Given the description of an element on the screen output the (x, y) to click on. 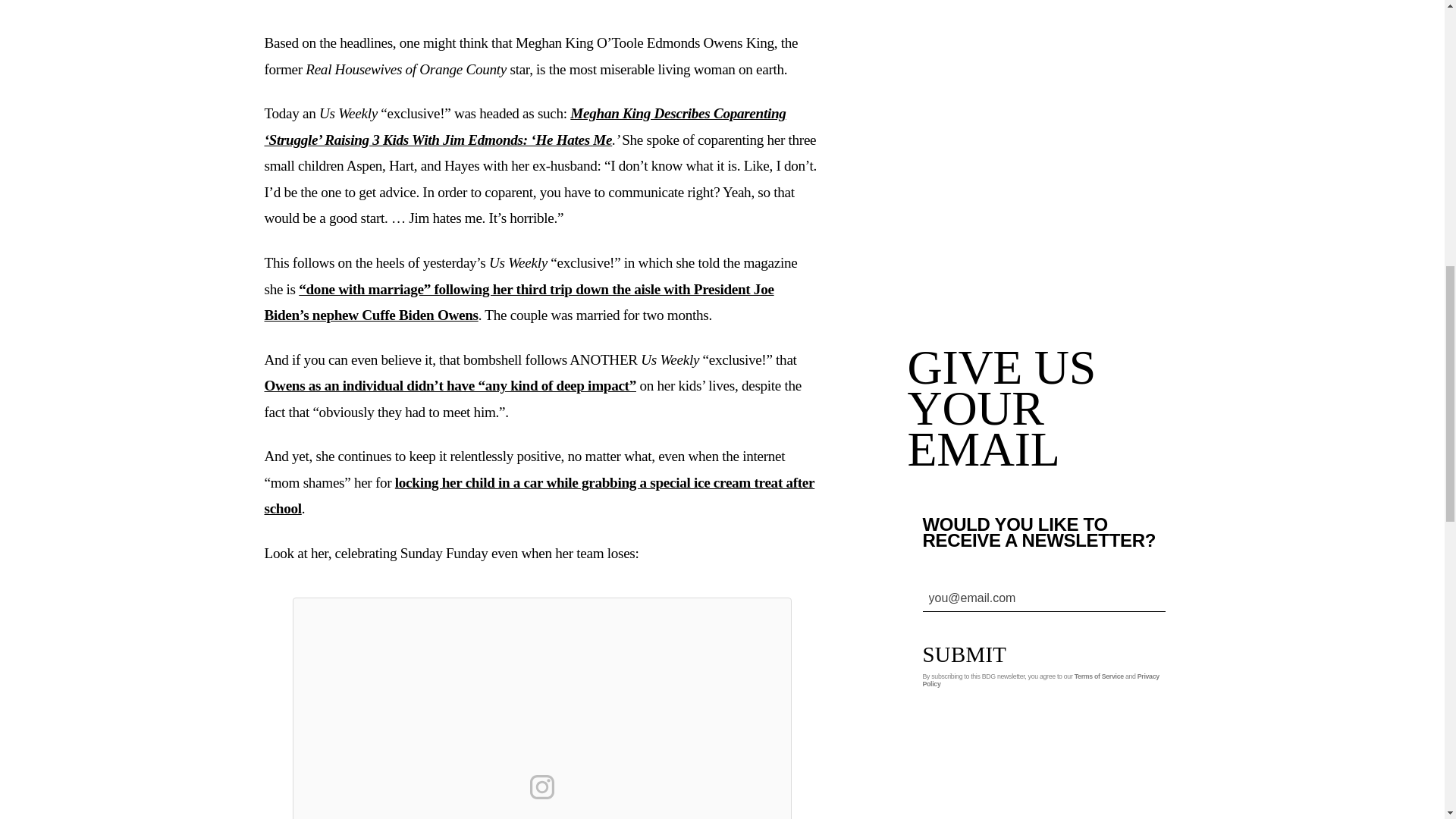
Terms of Service (1099, 676)
Privacy Policy (1039, 679)
View on Instagram (540, 787)
SUBMIT (975, 654)
